Given the description of an element on the screen output the (x, y) to click on. 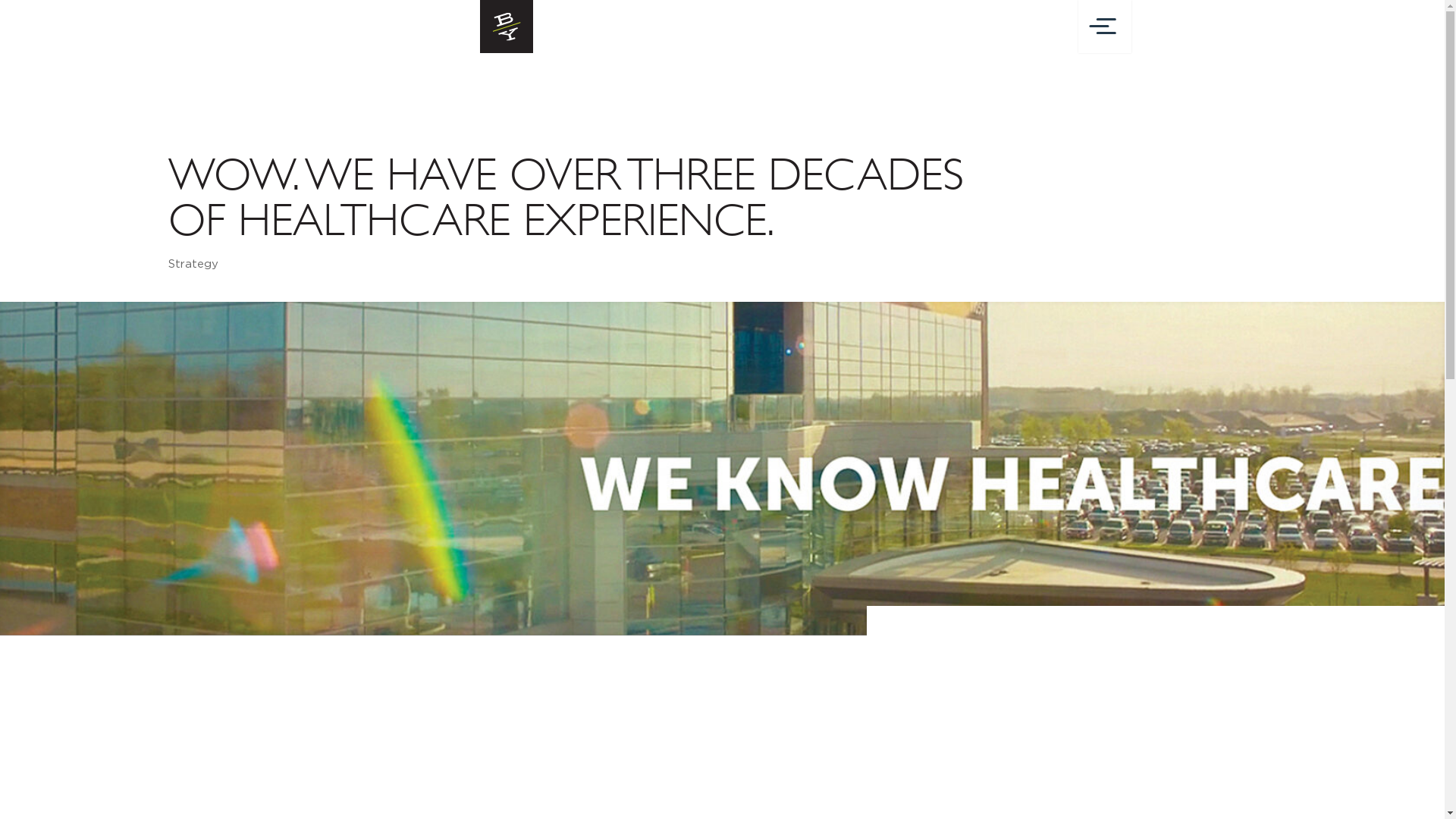
by-header-logo (506, 26)
Strategy (193, 264)
